Given the description of an element on the screen output the (x, y) to click on. 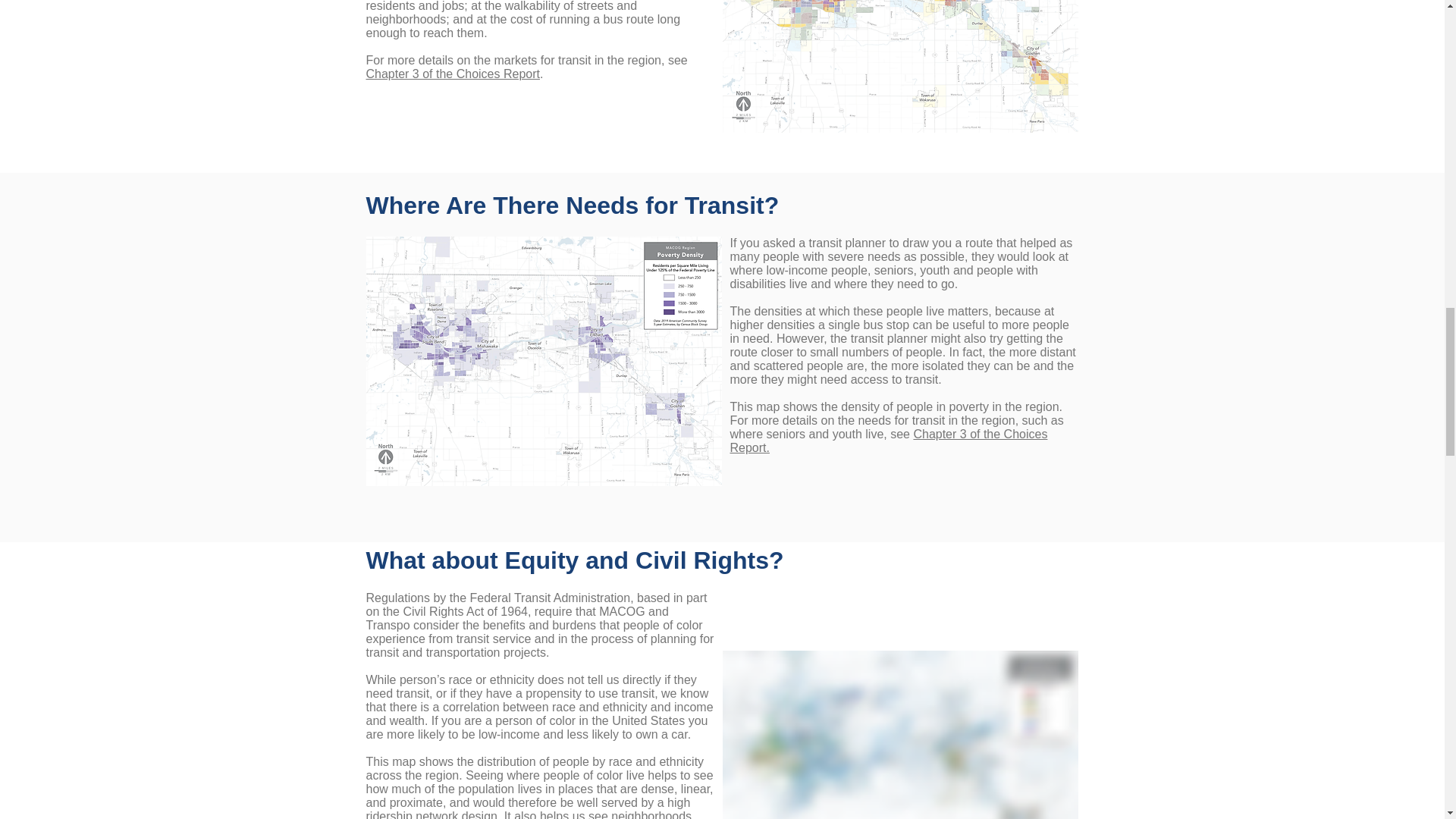
Poverty Density in the MACOG Region (542, 361)
Chapter 3 of the Choices Report. (887, 440)
Map of Acitivity Density in St. Joseph and Elkhrt Counties (899, 66)
Chapter 3 of the Choices Report (451, 73)
Race and Ethnicity in St. Joseph and Elkhart Counties (899, 734)
